Given the description of an element on the screen output the (x, y) to click on. 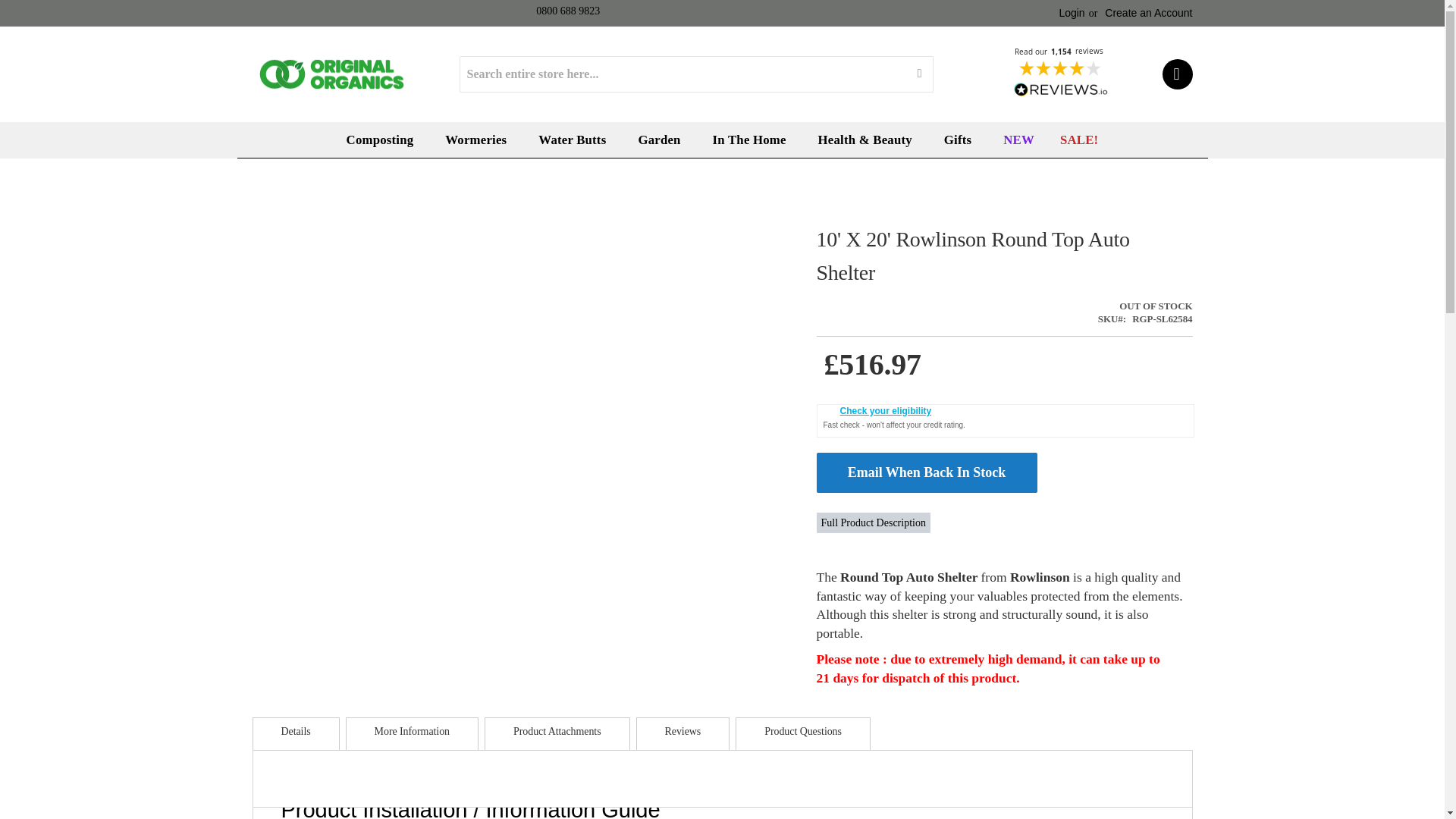
Search (919, 73)
Email When Back In Stock (926, 472)
Original Organics Home of Sustainable Living (330, 74)
0800 688 9823 (567, 10)
Original Organics Home of Sustainable Living (330, 74)
Water Butts (575, 140)
Login (1071, 10)
Composting (383, 140)
Wormeries (478, 140)
Create an Account (1148, 10)
Availability (1144, 306)
My Basket (1176, 73)
Search (919, 73)
